Given the description of an element on the screen output the (x, y) to click on. 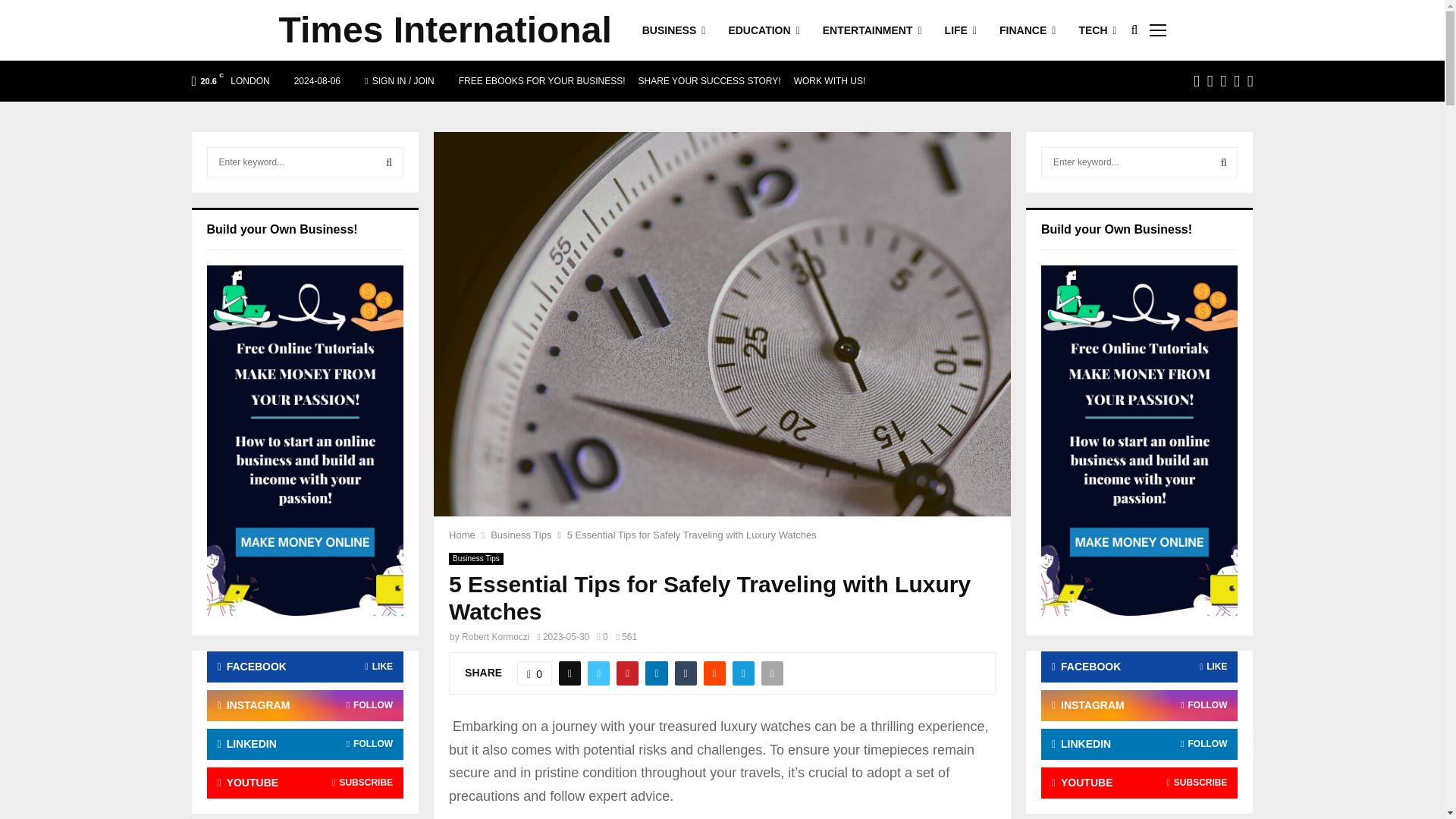
BUSINESS (674, 30)
EDUCATION (763, 30)
Times International (445, 30)
